Given the description of an element on the screen output the (x, y) to click on. 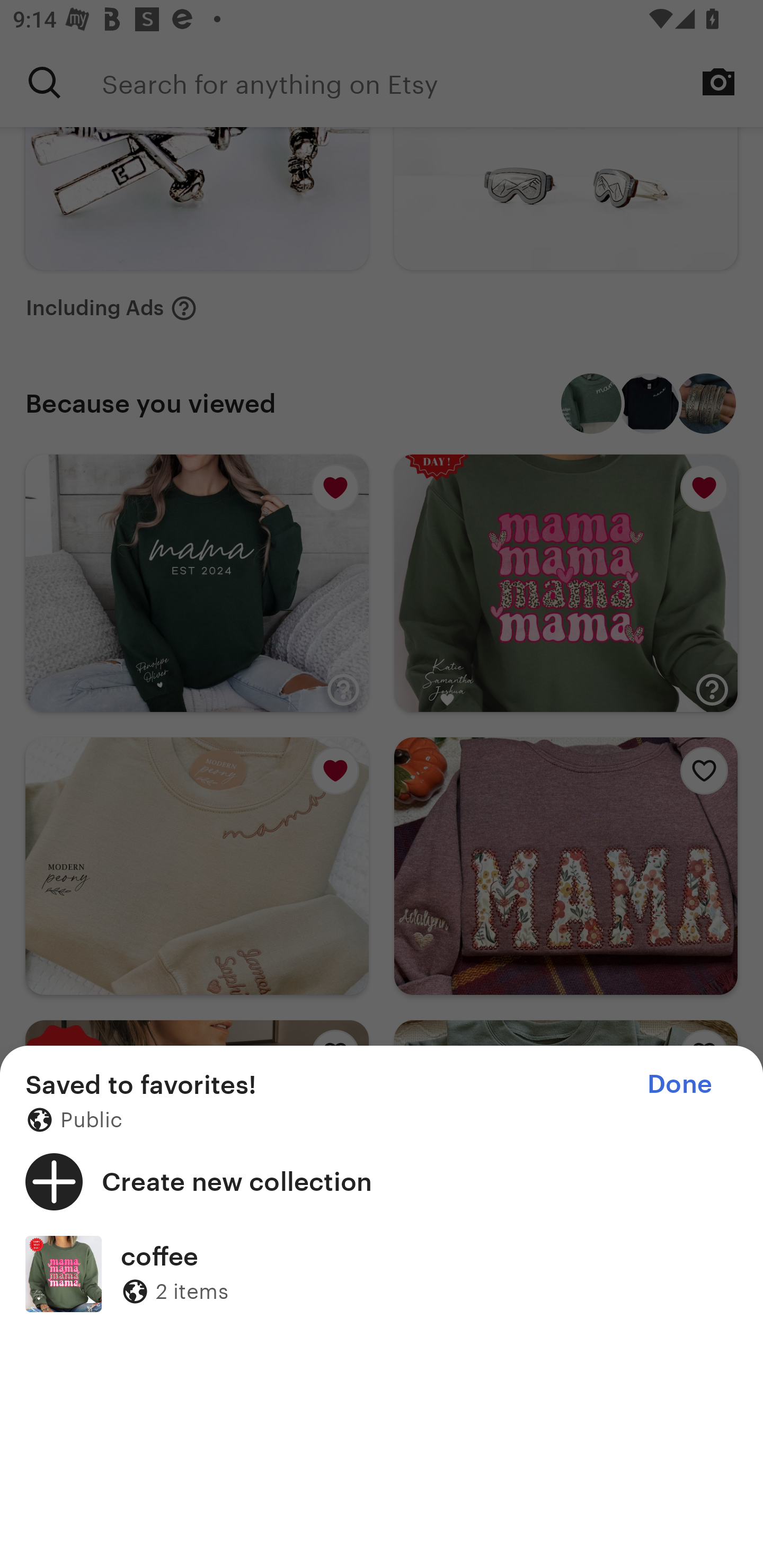
Done (679, 1083)
Create new collection (381, 1181)
coffee 2 items (381, 1273)
